Given the description of an element on the screen output the (x, y) to click on. 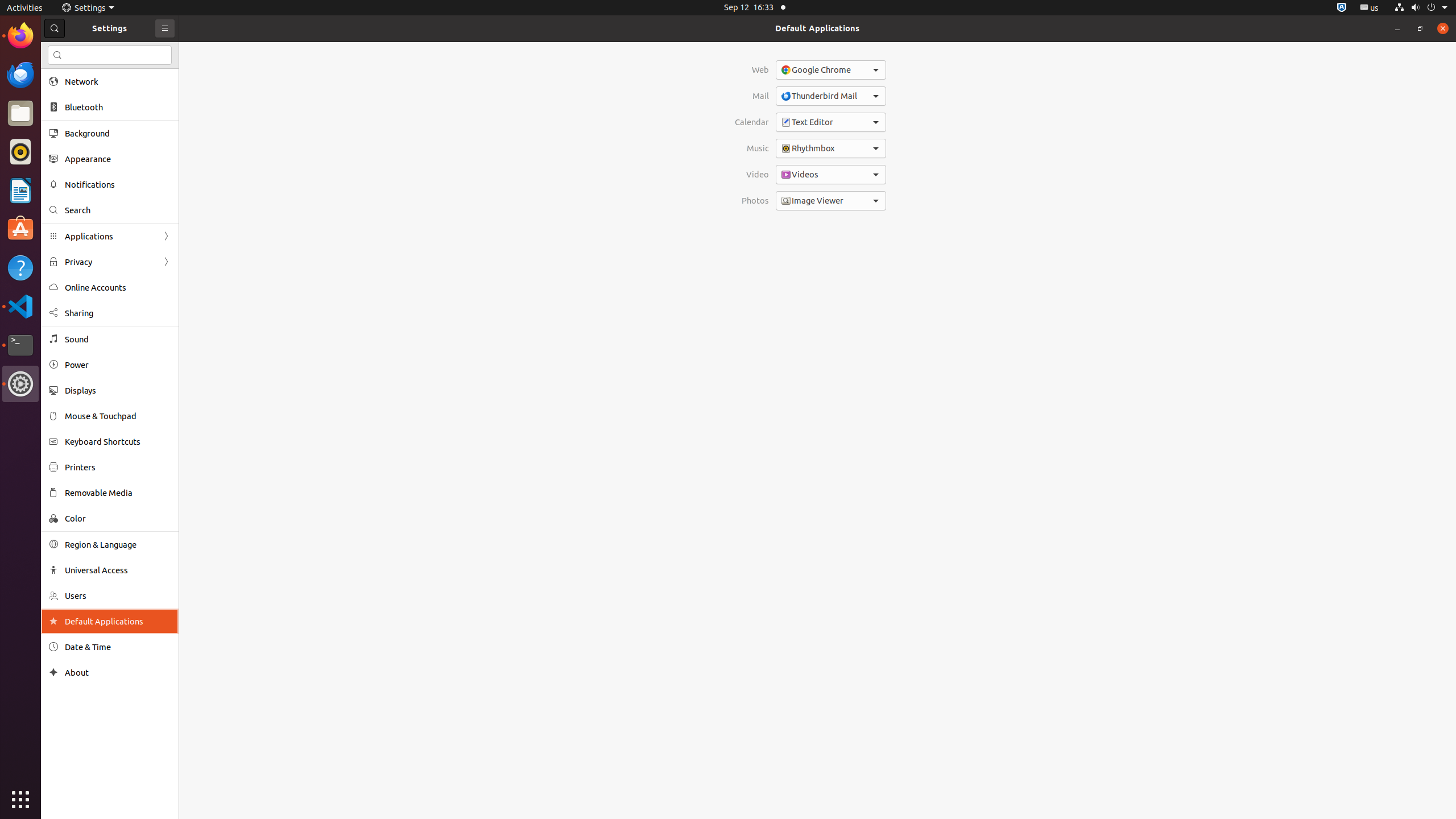
Date & Time Element type: label (117, 646)
     Element type: label (895, 200)
Users Element type: label (117, 595)
